Given the description of an element on the screen output the (x, y) to click on. 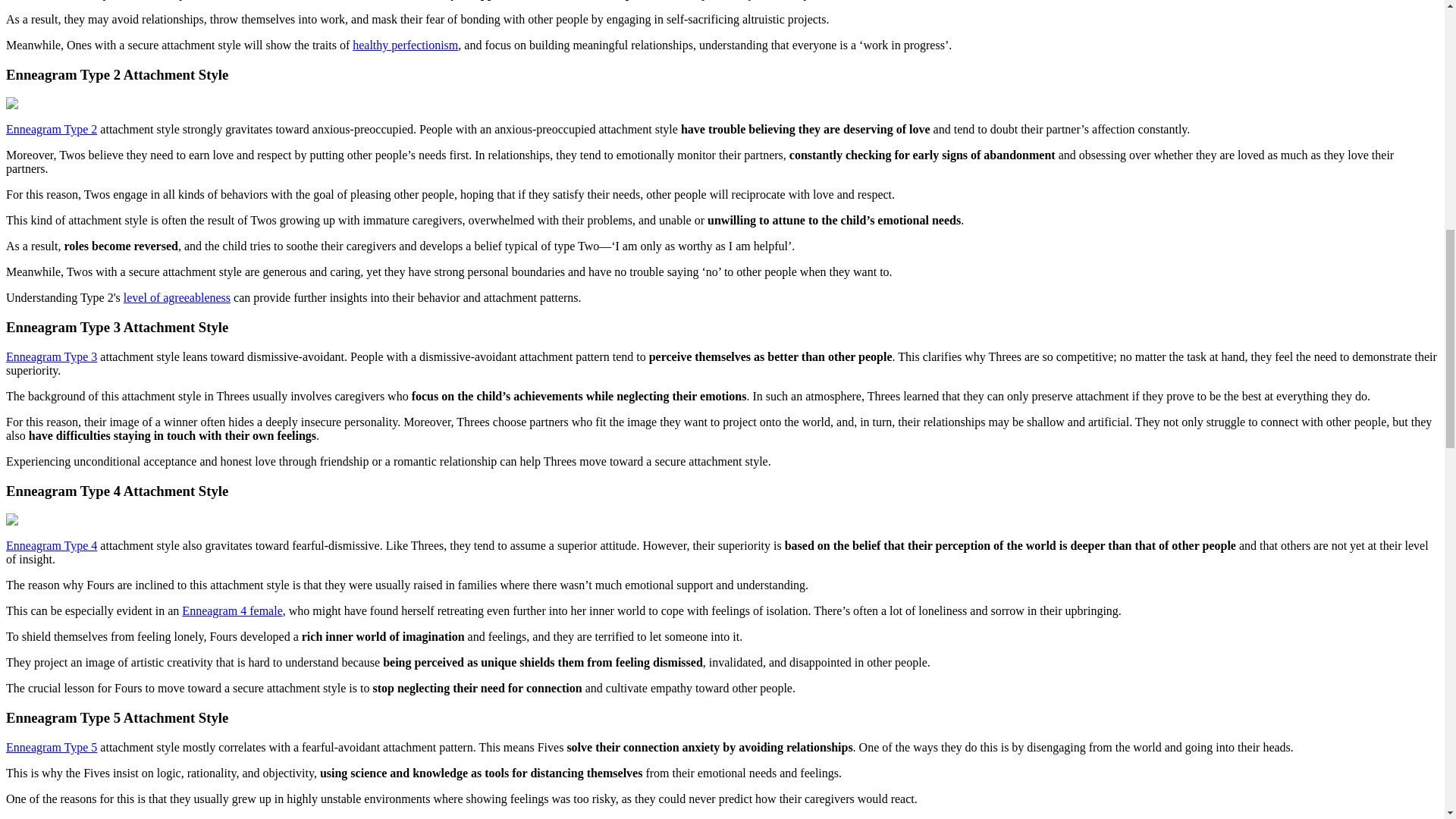
Enneagram Type 3 (51, 356)
Enneagram 4 female (232, 610)
healthy perfectionism (405, 44)
Enneagram Type 5 (51, 747)
Enneagram Type 2 (51, 128)
level of agreeableness (176, 297)
Enneagram Type 4 (51, 545)
